Given the description of an element on the screen output the (x, y) to click on. 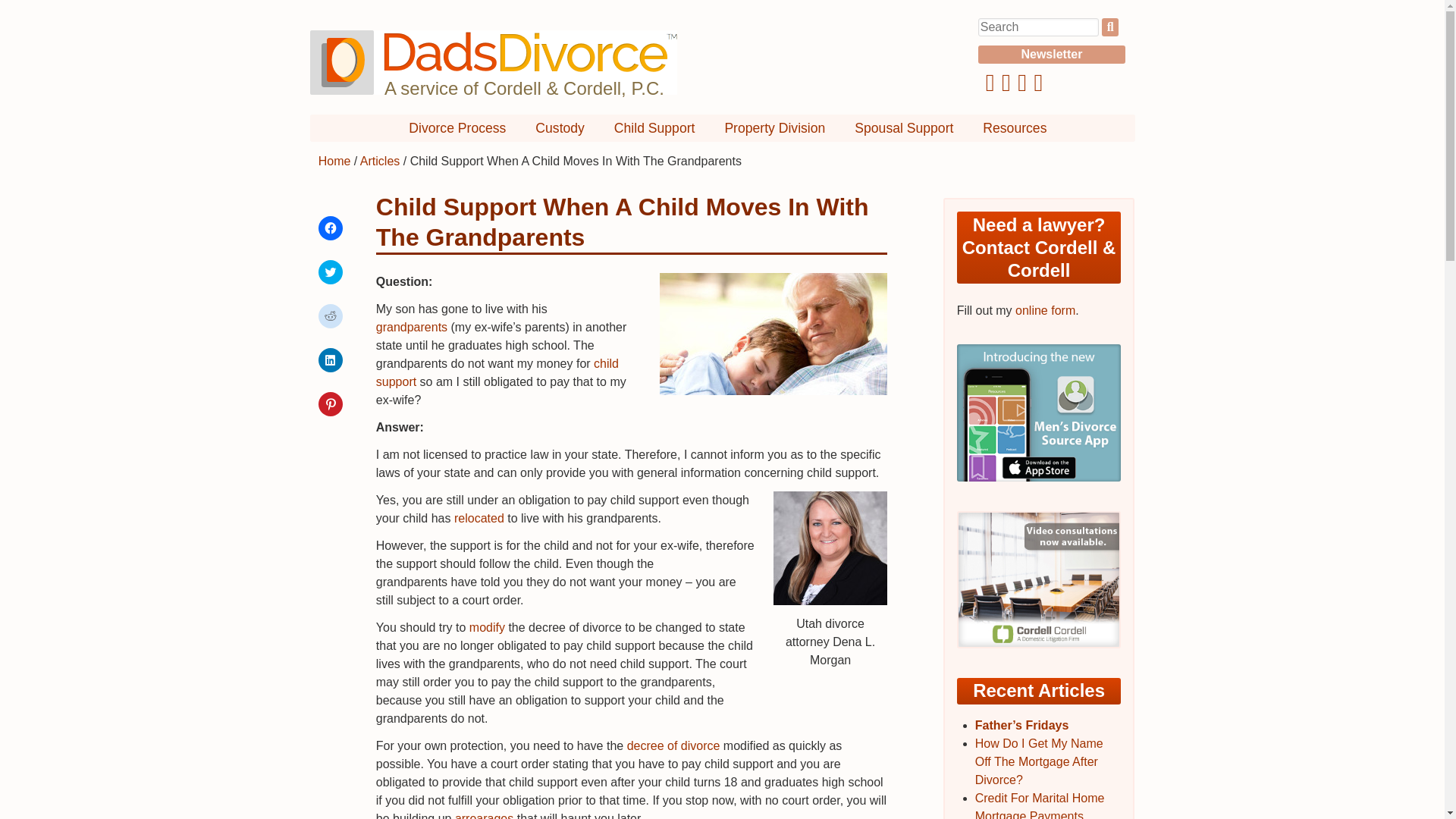
Spousal Support (903, 127)
Click to share on Reddit (330, 315)
Newsletter (1051, 54)
Newsletter (1051, 54)
modification (486, 626)
child support (496, 372)
divorce decree (673, 745)
decree of divorce (673, 745)
Search for: (1038, 27)
Divorce Process (457, 127)
Click to share on Twitter (330, 272)
arrearage (483, 815)
Articles (378, 160)
grandparents' rights (410, 327)
